Given the description of an element on the screen output the (x, y) to click on. 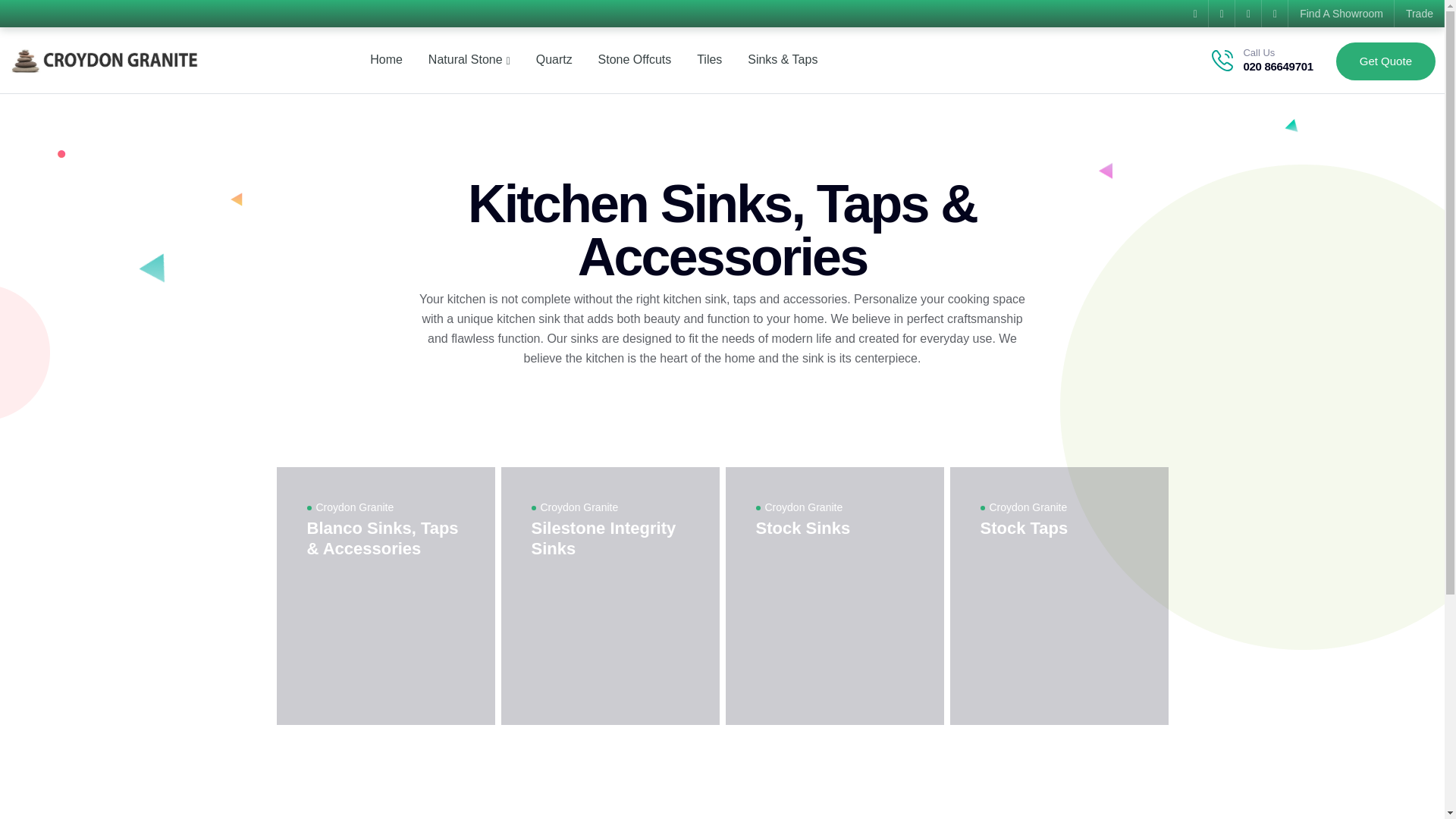
Find A Showroom (1341, 13)
Natural Stone (469, 60)
Stone Offcuts (634, 59)
020 86649701 (1278, 65)
Get Quote (1385, 61)
